Given the description of an element on the screen output the (x, y) to click on. 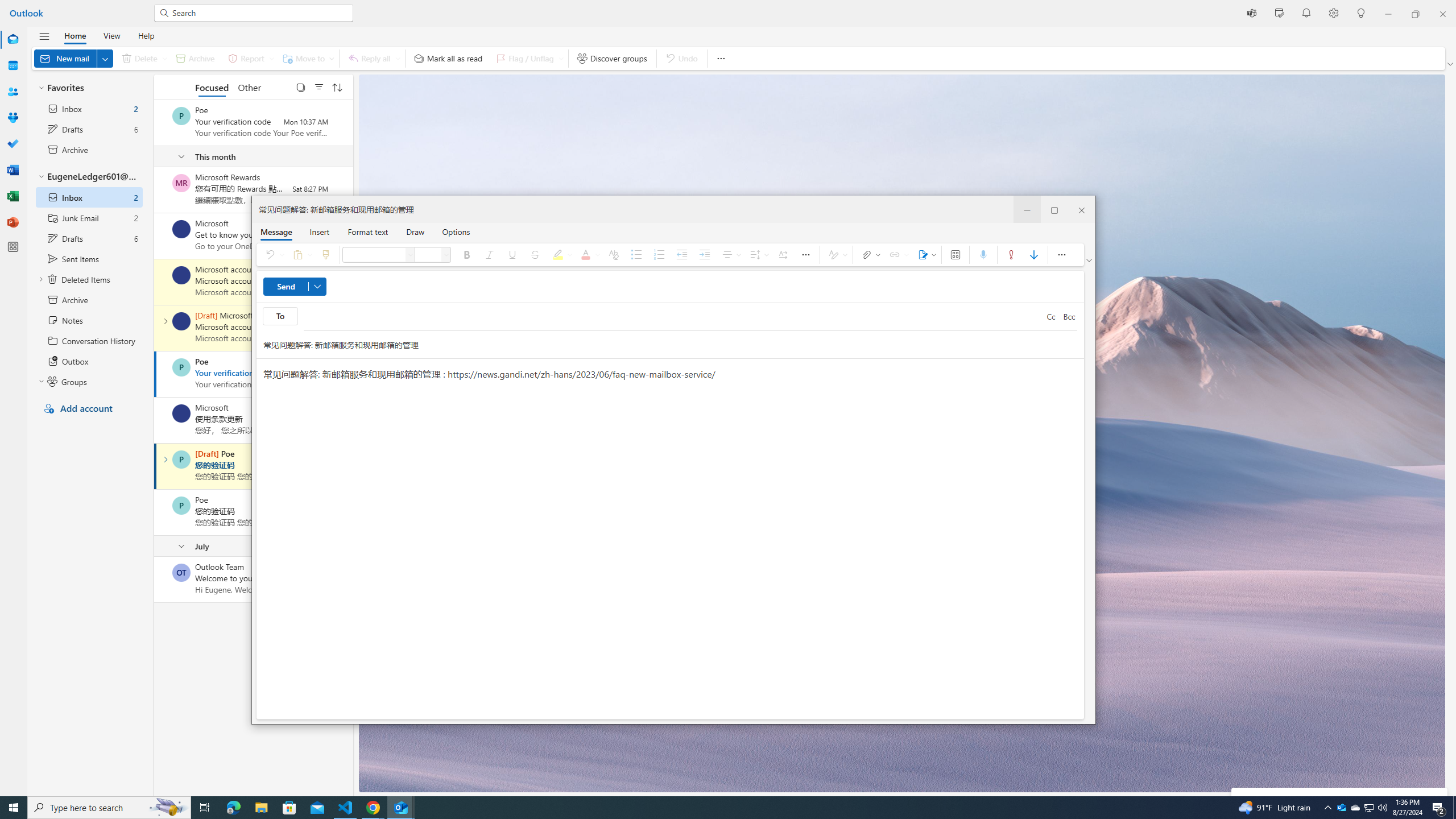
Strikethrough (535, 254)
Microsoft Store (289, 807)
Calendar (12, 65)
Font size (446, 254)
Task View (204, 807)
